Given the description of an element on the screen output the (x, y) to click on. 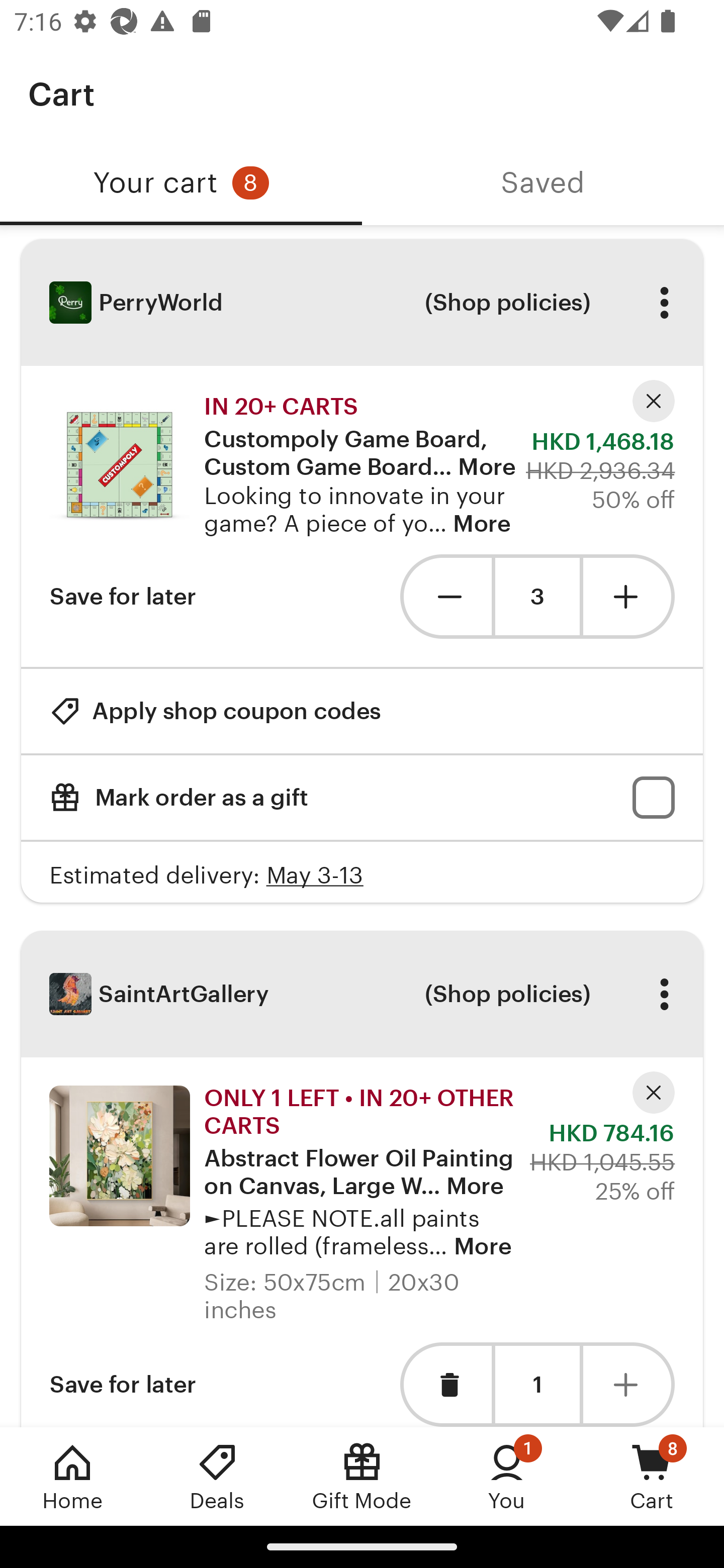
Saved, tab 2 of 2 Saved (543, 183)
PerryWorld (Shop policies) More options (361, 302)
(Shop policies) (507, 302)
More options (663, 302)
Save for later (122, 596)
Remove one unit from cart (445, 596)
Add one unit to cart (628, 596)
3 (537, 597)
Apply shop coupon codes (215, 710)
Mark order as a gift (361, 797)
SaintArtGallery (Shop policies) More options (361, 993)
(Shop policies) (507, 993)
More options (663, 993)
Save for later (122, 1384)
Remove item from cart (445, 1384)
Add one unit to cart (628, 1384)
1 (537, 1384)
Home (72, 1475)
Deals (216, 1475)
Gift Mode (361, 1475)
You, 1 new notification You (506, 1475)
